Given the description of an element on the screen output the (x, y) to click on. 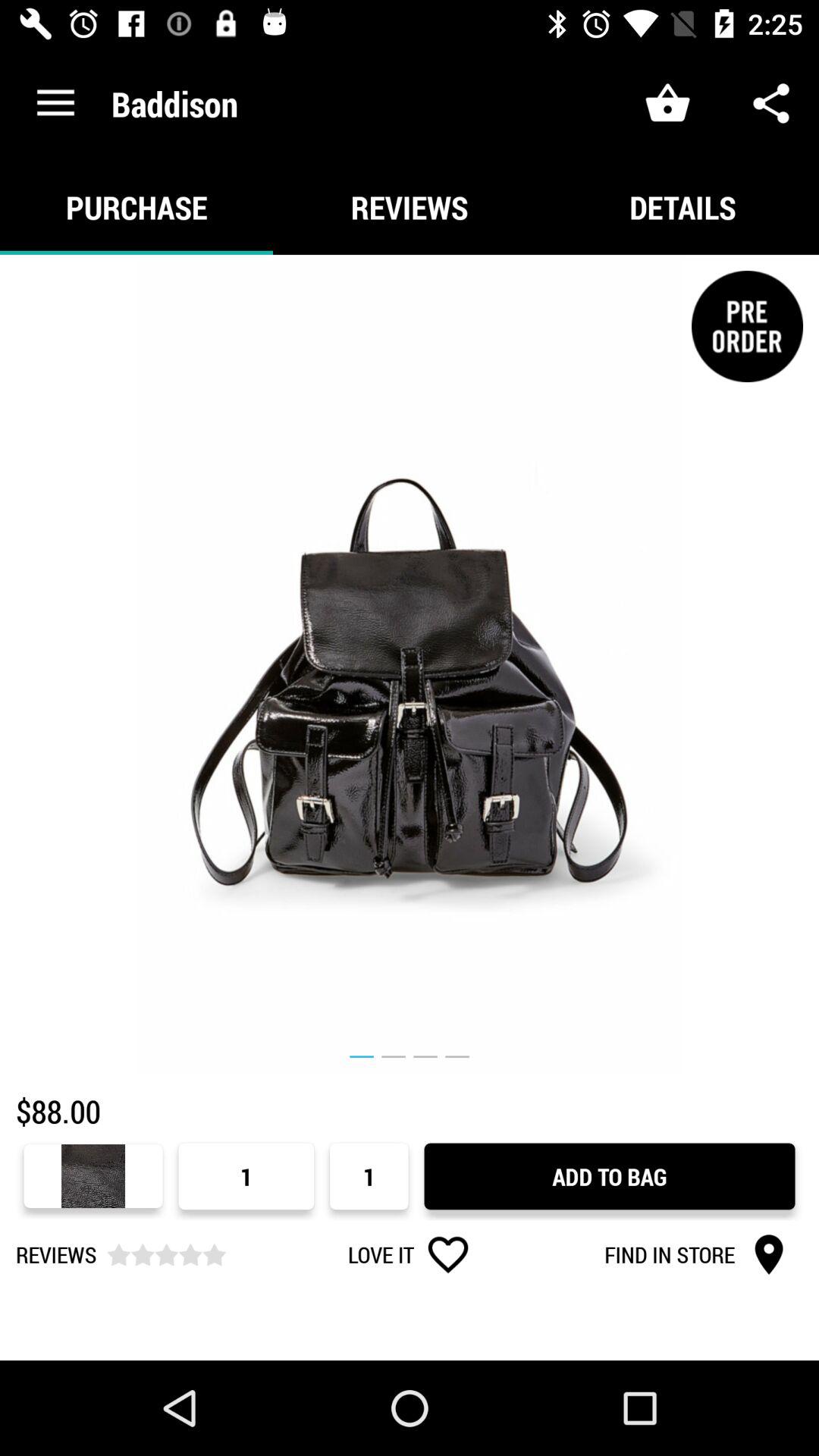
launch icon above the purchase (55, 103)
